Given the description of an element on the screen output the (x, y) to click on. 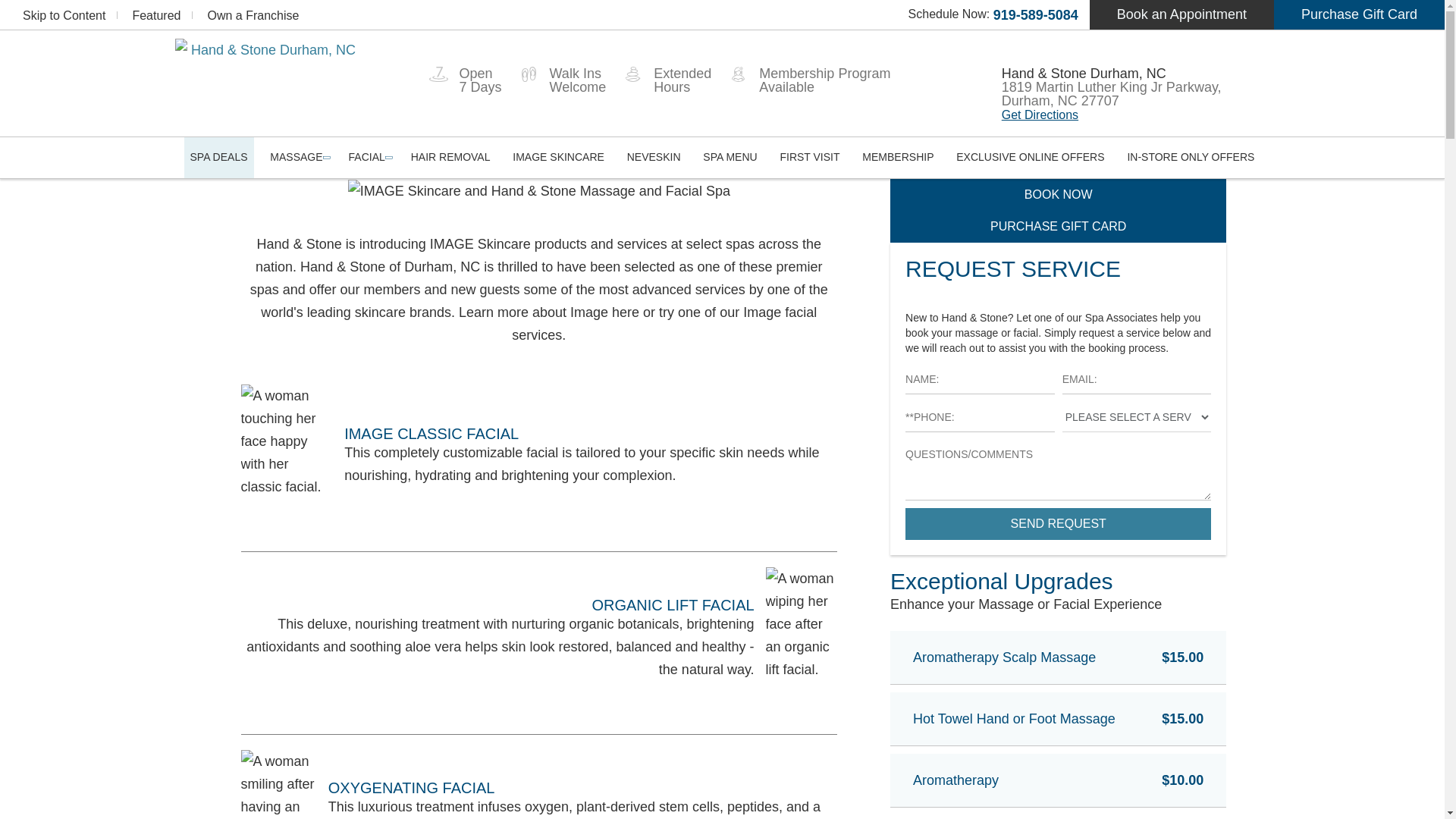
Skip to Content (63, 15)
